Given the description of an element on the screen output the (x, y) to click on. 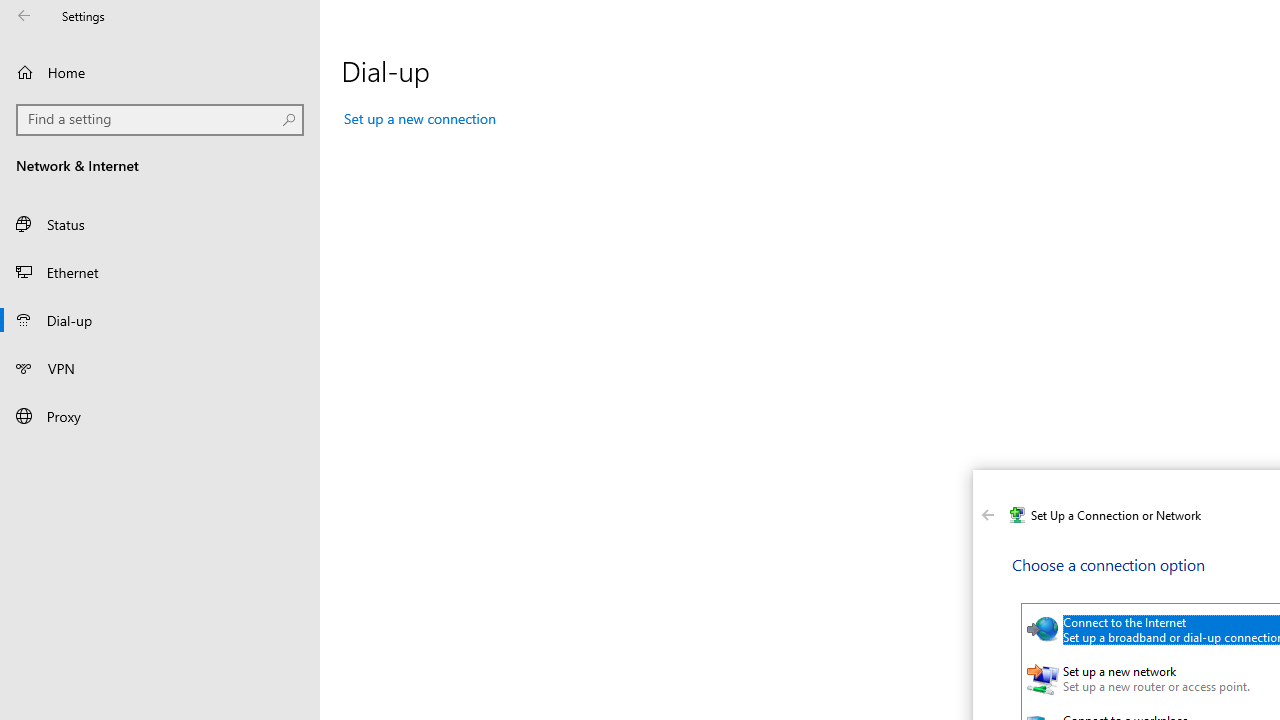
System (984, 488)
System (984, 488)
Back (987, 515)
